Given the description of an element on the screen output the (x, y) to click on. 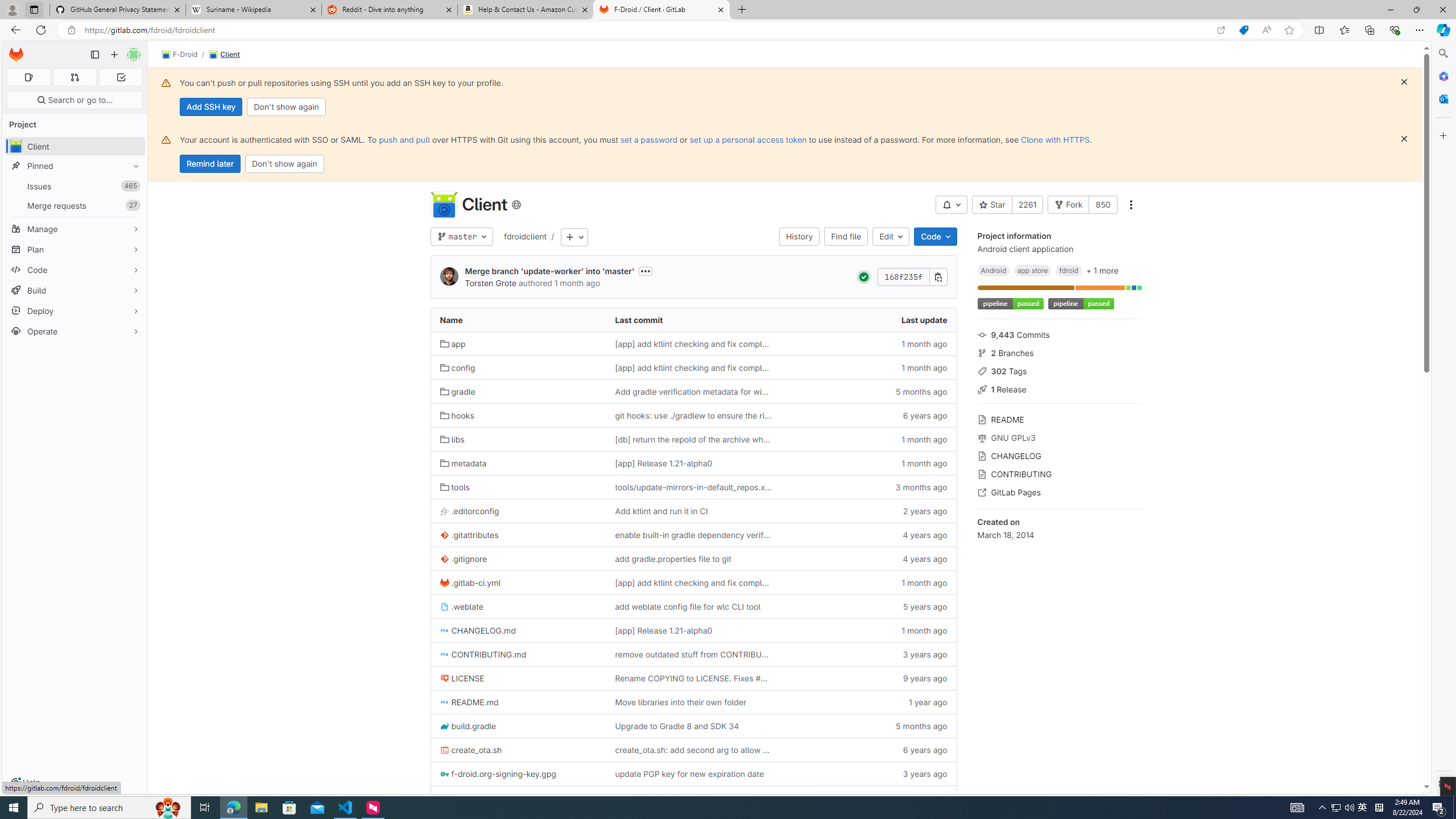
fdroid (1068, 269)
tools (454, 487)
Code (74, 269)
1 Release (1058, 388)
History (798, 236)
5 years ago (868, 606)
Torsten Grote's avatar (448, 276)
Class: tree-item (693, 797)
CONTRIBUTING.md (517, 654)
Add gradle verification metadata for windows (693, 391)
LICENSE (517, 677)
2 Branches (1058, 351)
